Given the description of an element on the screen output the (x, y) to click on. 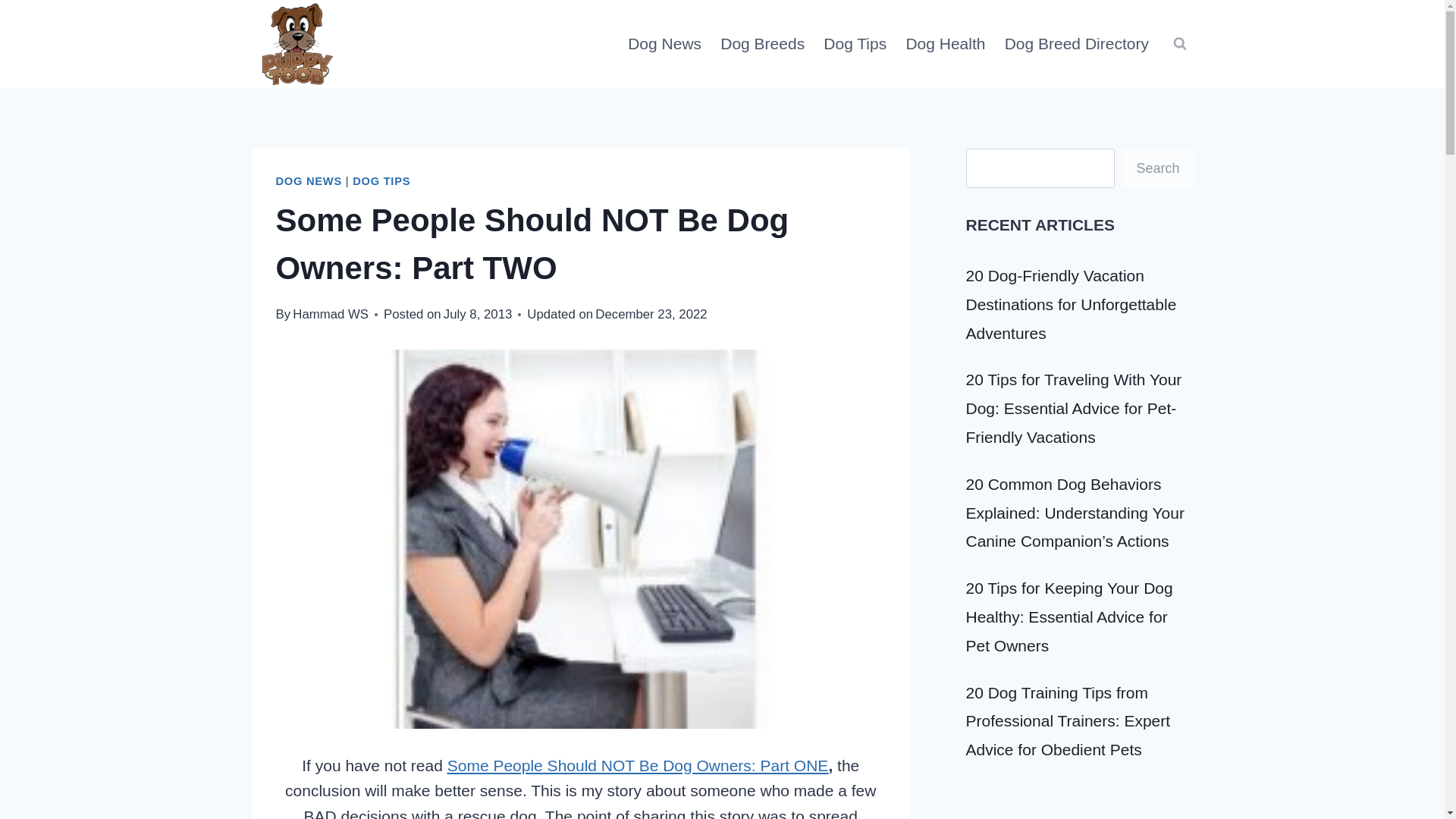
Hammad WS (330, 314)
Dog Breed Directory (1075, 44)
Dog Health (945, 44)
DOG TIPS (381, 181)
DOG NEWS (309, 181)
Dog News (664, 44)
Some People Should NOT Be Dog Owners: Part ONE (637, 764)
Dog Breeds (762, 44)
Dog Tips (854, 44)
